Given the description of an element on the screen output the (x, y) to click on. 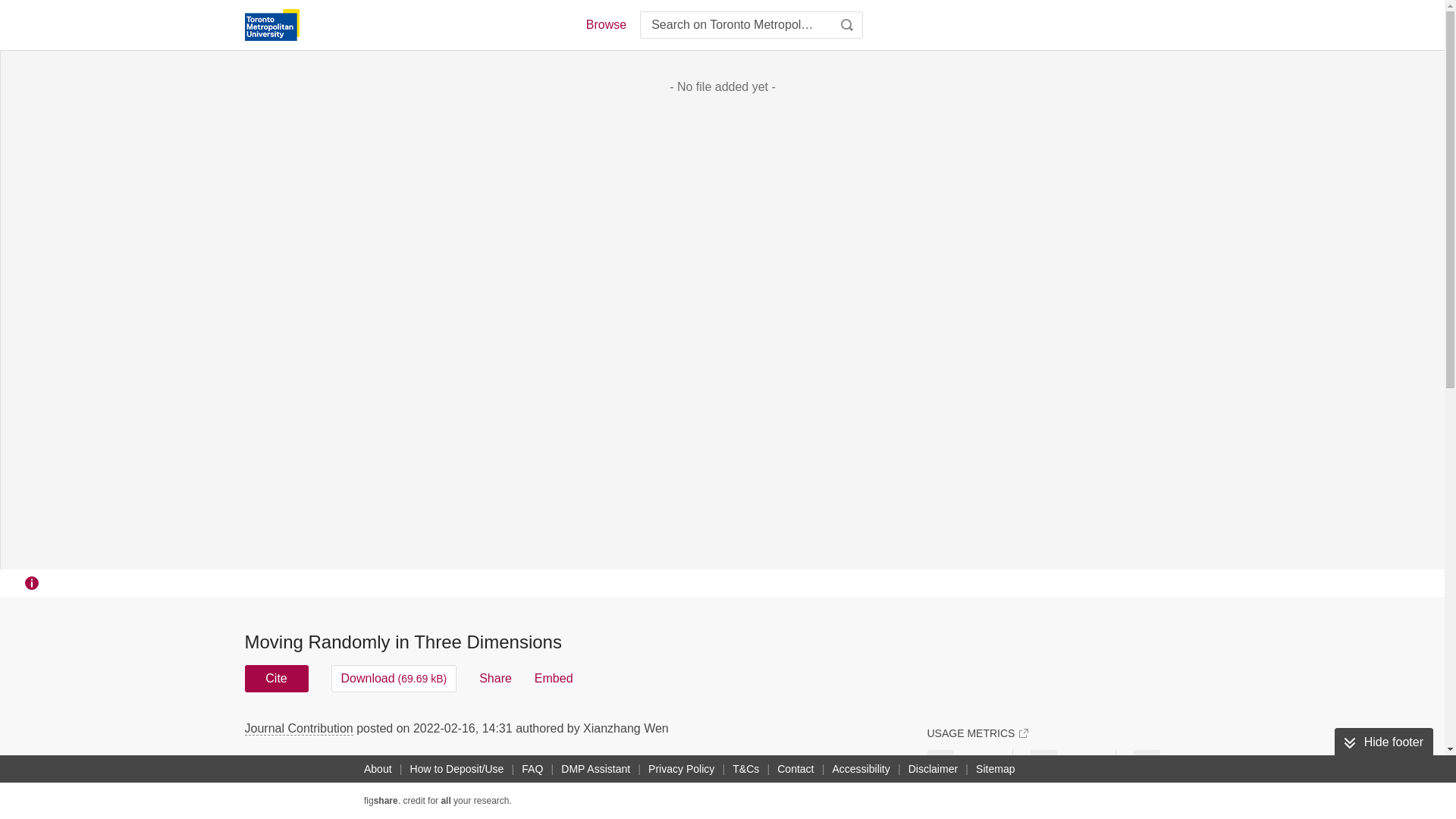
Disclaimer (933, 769)
Privacy Policy (681, 769)
Contact (795, 769)
Cite (275, 678)
Hide footer (1383, 742)
USAGE METRICS (976, 732)
Share (495, 678)
Accessibility (861, 769)
DMP Assistant (595, 769)
About (377, 769)
